Given the description of an element on the screen output the (x, y) to click on. 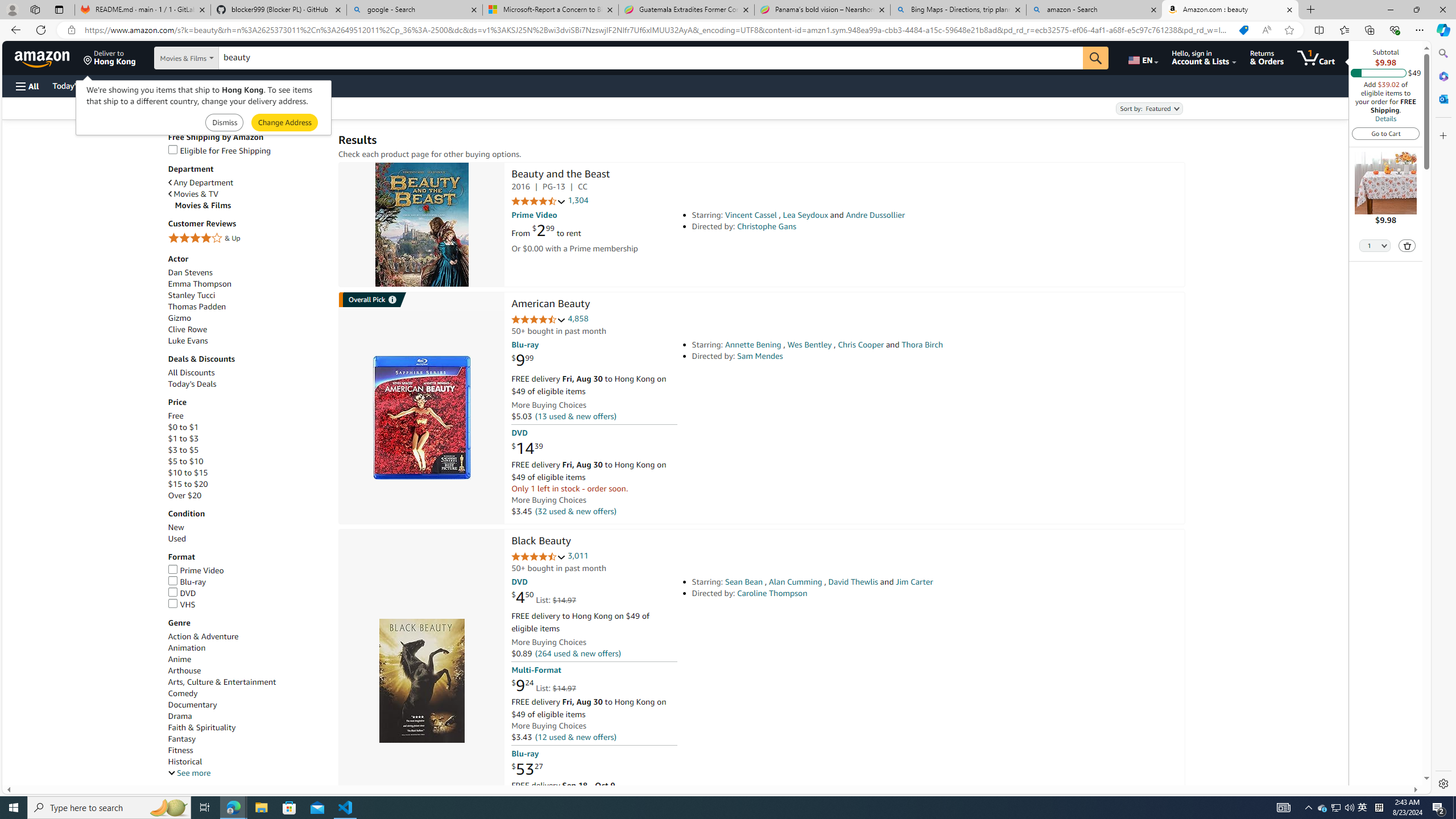
Search in (210, 58)
Open Menu (26, 86)
Thora Birch (922, 344)
Faith & Spirituality (247, 727)
Chris Cooper (860, 344)
Starring: Vincent Cassel , Lea Seydoux and Andre Dussollier (850, 215)
Thomas Padden (247, 307)
All Discounts (191, 372)
$0 to $1 (183, 426)
From $2.99 to rent (545, 230)
David Thewlis (852, 581)
Skip to main search results (50, 780)
Used (176, 538)
